Given the description of an element on the screen output the (x, y) to click on. 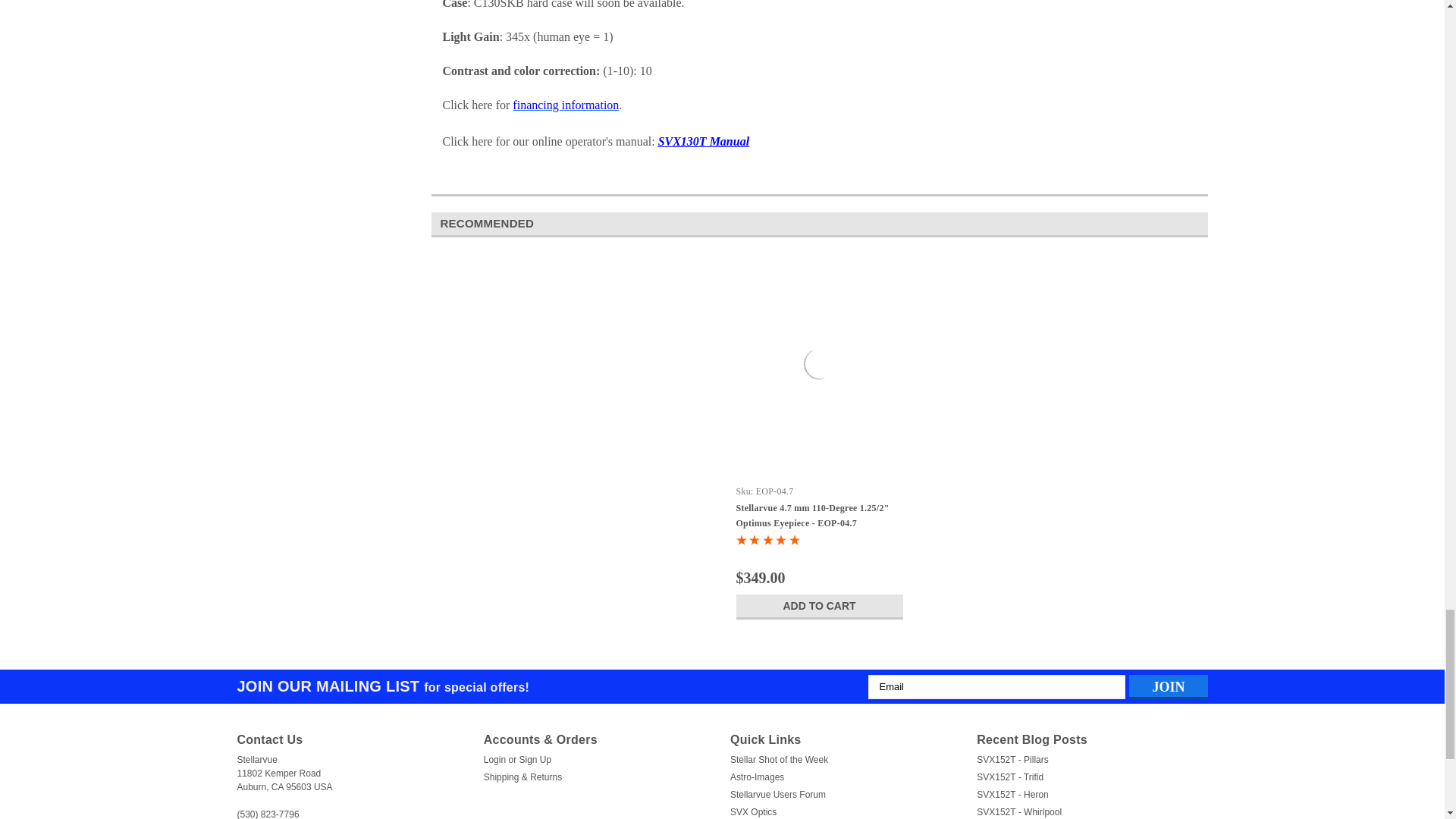
Join (1168, 686)
